Given the description of an element on the screen output the (x, y) to click on. 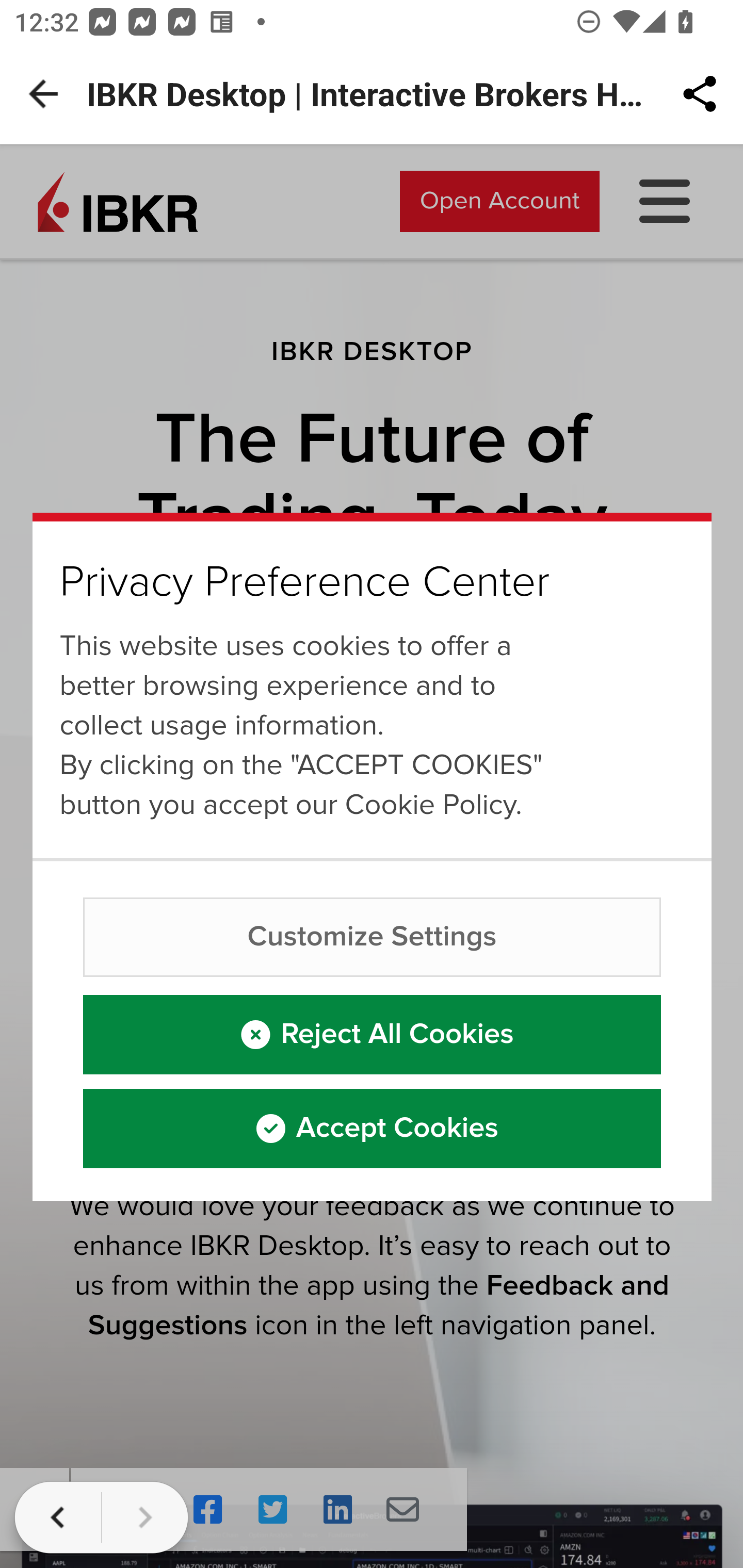
Customize Settings (372, 936)
 Reject All Cookies  Reject All Cookies (372, 1033)
 Accept Cookies  Accept Cookies (372, 1127)
